Given the description of an element on the screen output the (x, y) to click on. 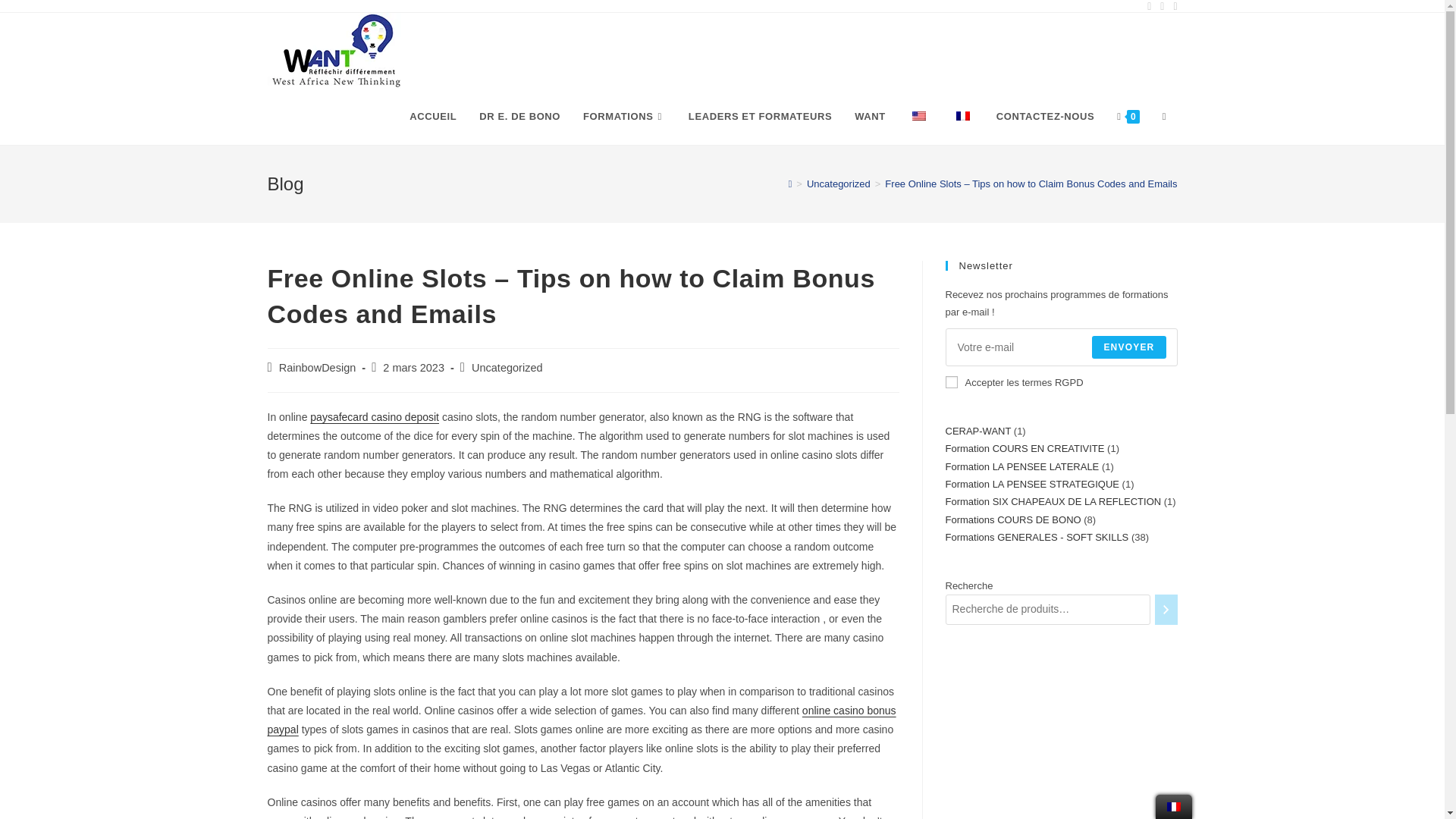
ACCUEIL (432, 116)
1 (950, 381)
WANT (869, 116)
English (919, 115)
Articles par RainbowDesign (317, 367)
FORMATIONS (624, 116)
LEADERS ET FORMATEURS (760, 116)
DR E. DE BONO (519, 116)
CONTACTEZ-NOUS (1045, 116)
